Given the description of an element on the screen output the (x, y) to click on. 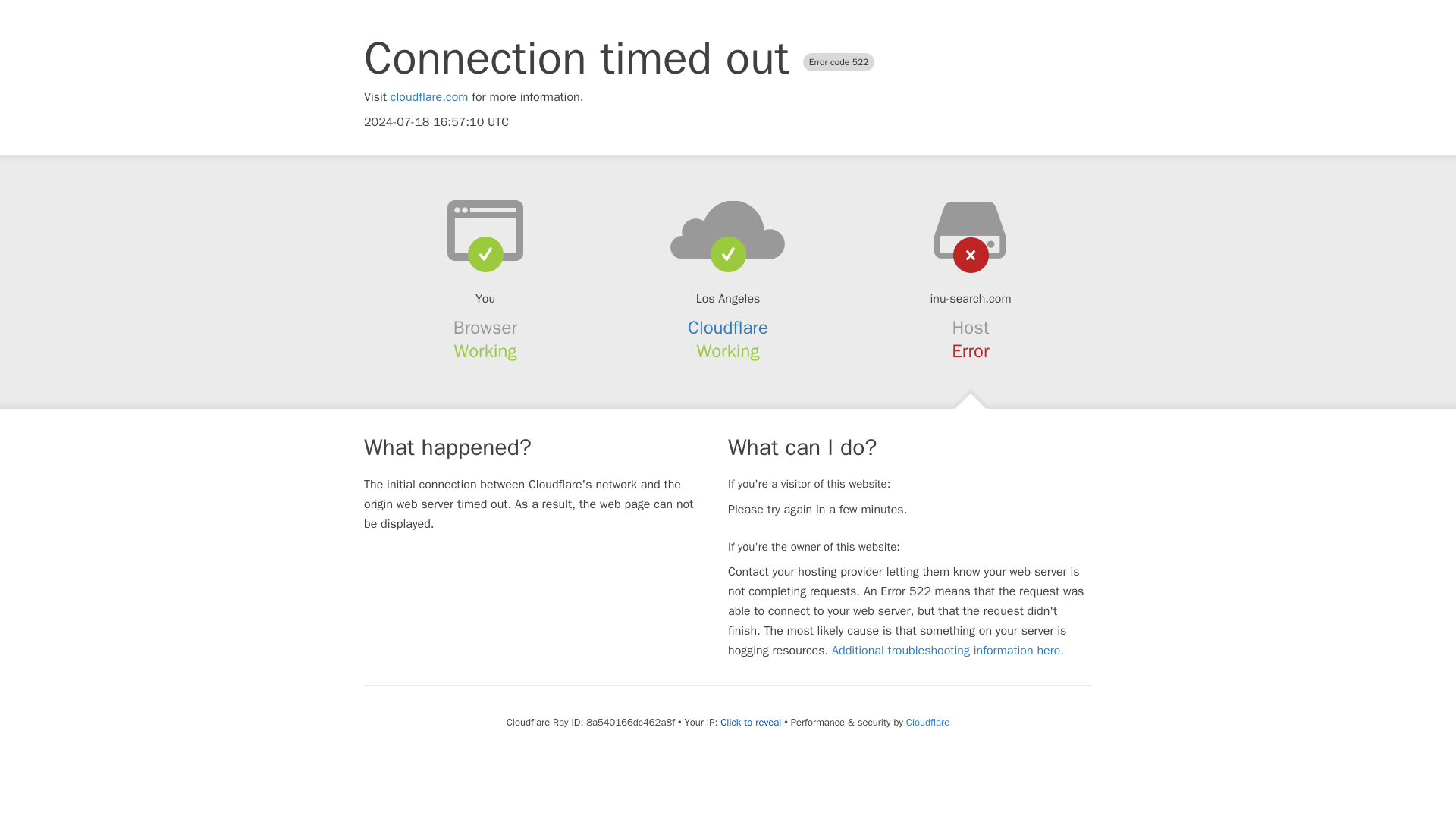
Additional troubleshooting information here. (947, 650)
Cloudflare (927, 721)
cloudflare.com (429, 96)
Click to reveal (750, 722)
Cloudflare (727, 327)
